Given the description of an element on the screen output the (x, y) to click on. 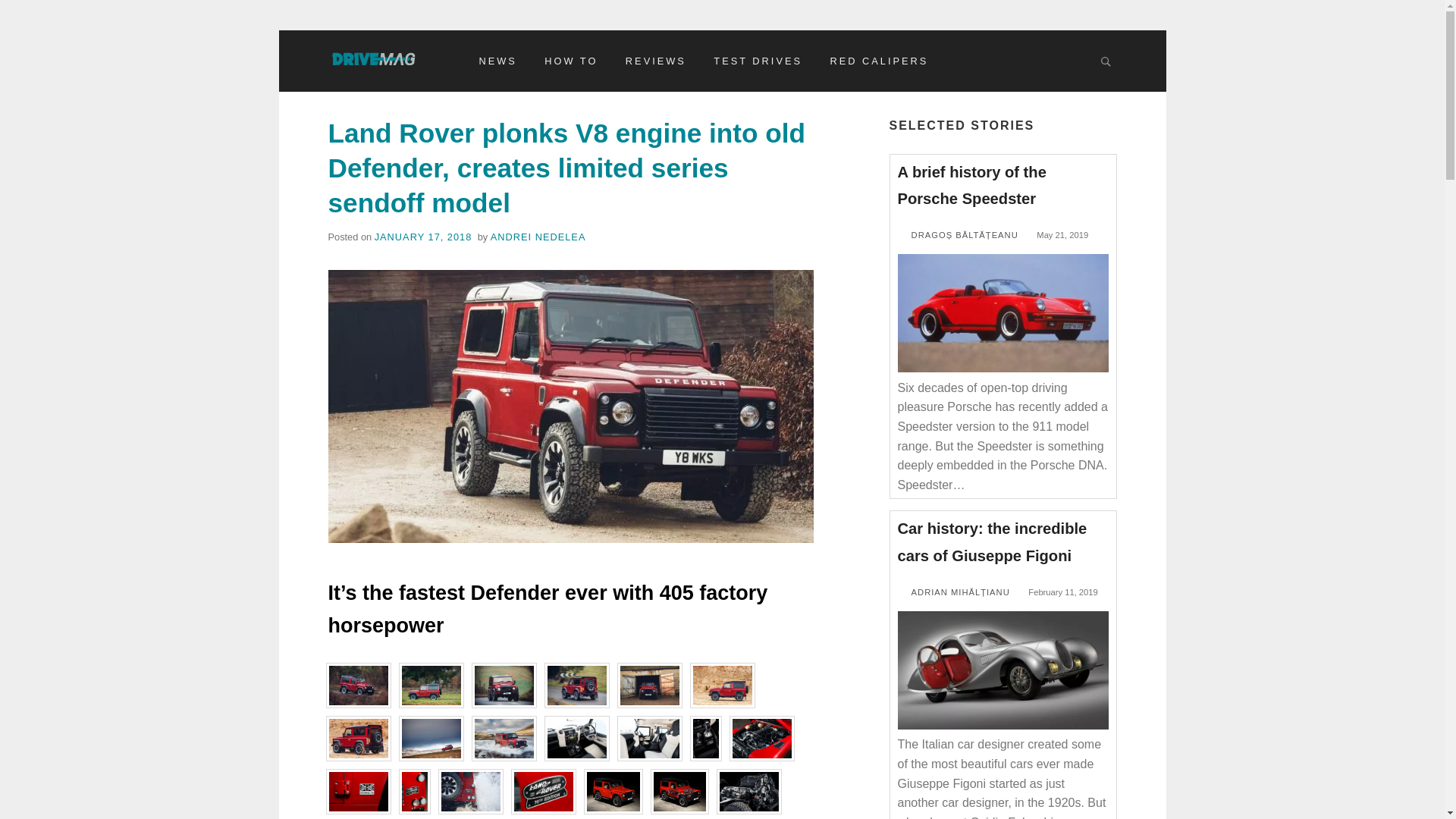
NEWS (497, 60)
ANDREI NEDELEA (538, 236)
JANUARY 17, 2018 (422, 236)
TEST DRIVES (757, 60)
REVIEWS (655, 60)
HOW TO (571, 60)
RED CALIPERS (879, 60)
